Given the description of an element on the screen output the (x, y) to click on. 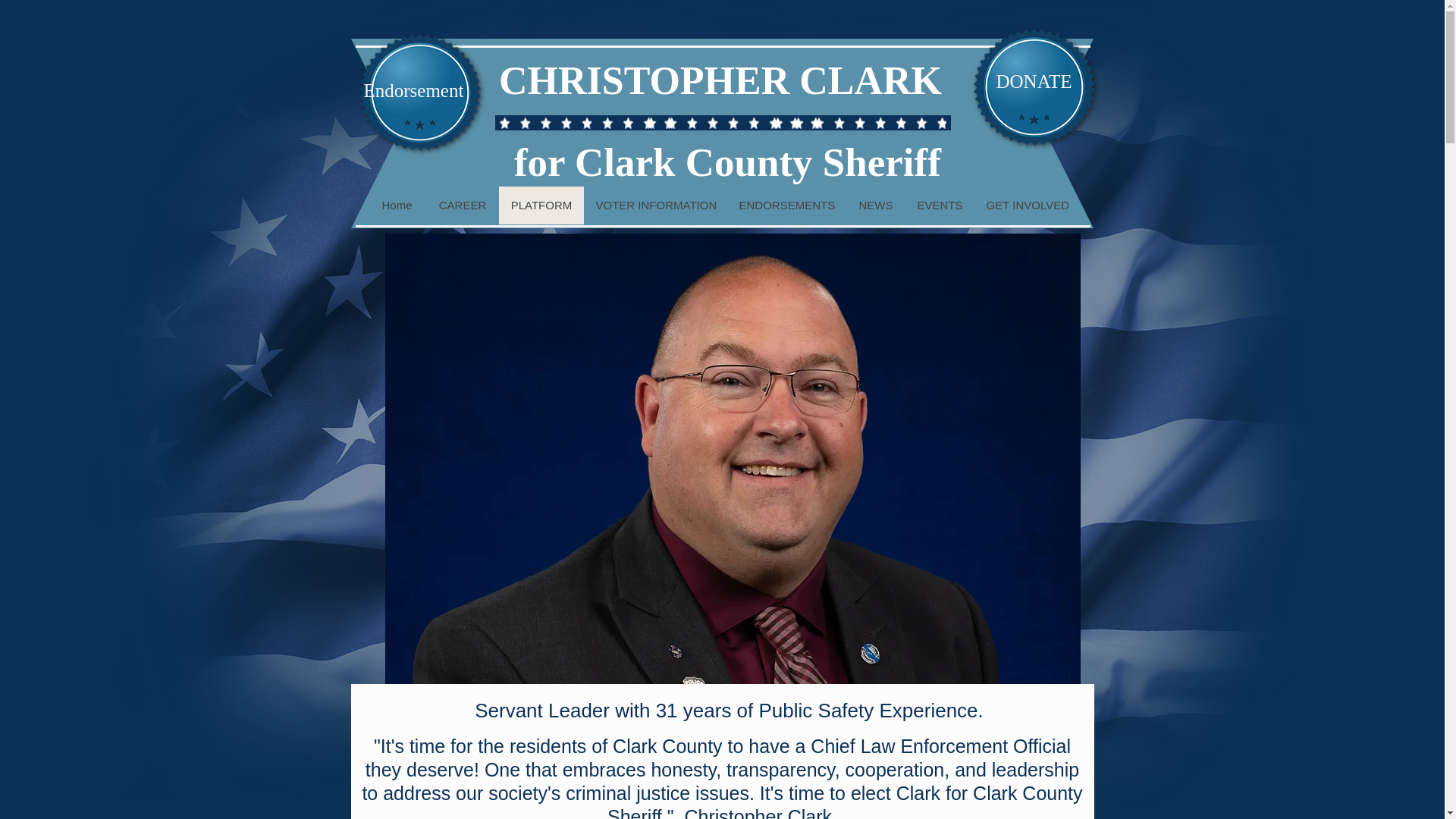
CAREER (462, 205)
ENDORSEMENTS (785, 205)
NEWS (875, 205)
GET INVOLVED (1027, 205)
EVENTS (939, 205)
for Clark County Sheriff  (731, 162)
Endorsement (414, 89)
PLATFORM (541, 205)
Home (397, 205)
VOTER INFORMATION (654, 205)
CHRISTOPHER CLARK (720, 80)
DONATE (1033, 81)
